Given the description of an element on the screen output the (x, y) to click on. 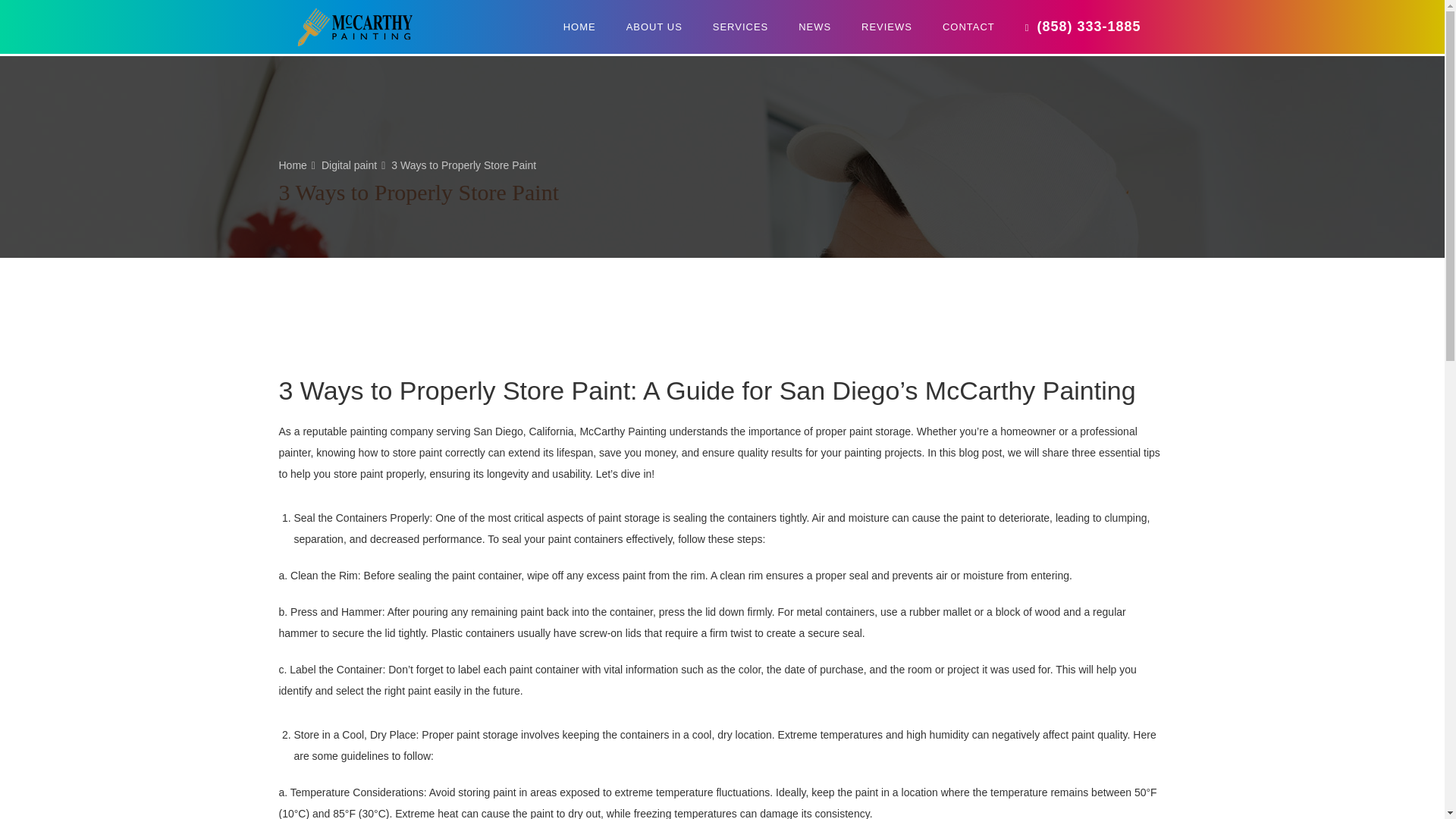
REVIEWS (886, 26)
SERVICES (740, 26)
Digital paint (349, 164)
HOME (580, 26)
NEWS (814, 26)
ABOUT US (653, 26)
Home (293, 164)
CONTACT (968, 26)
